Given the description of an element on the screen output the (x, y) to click on. 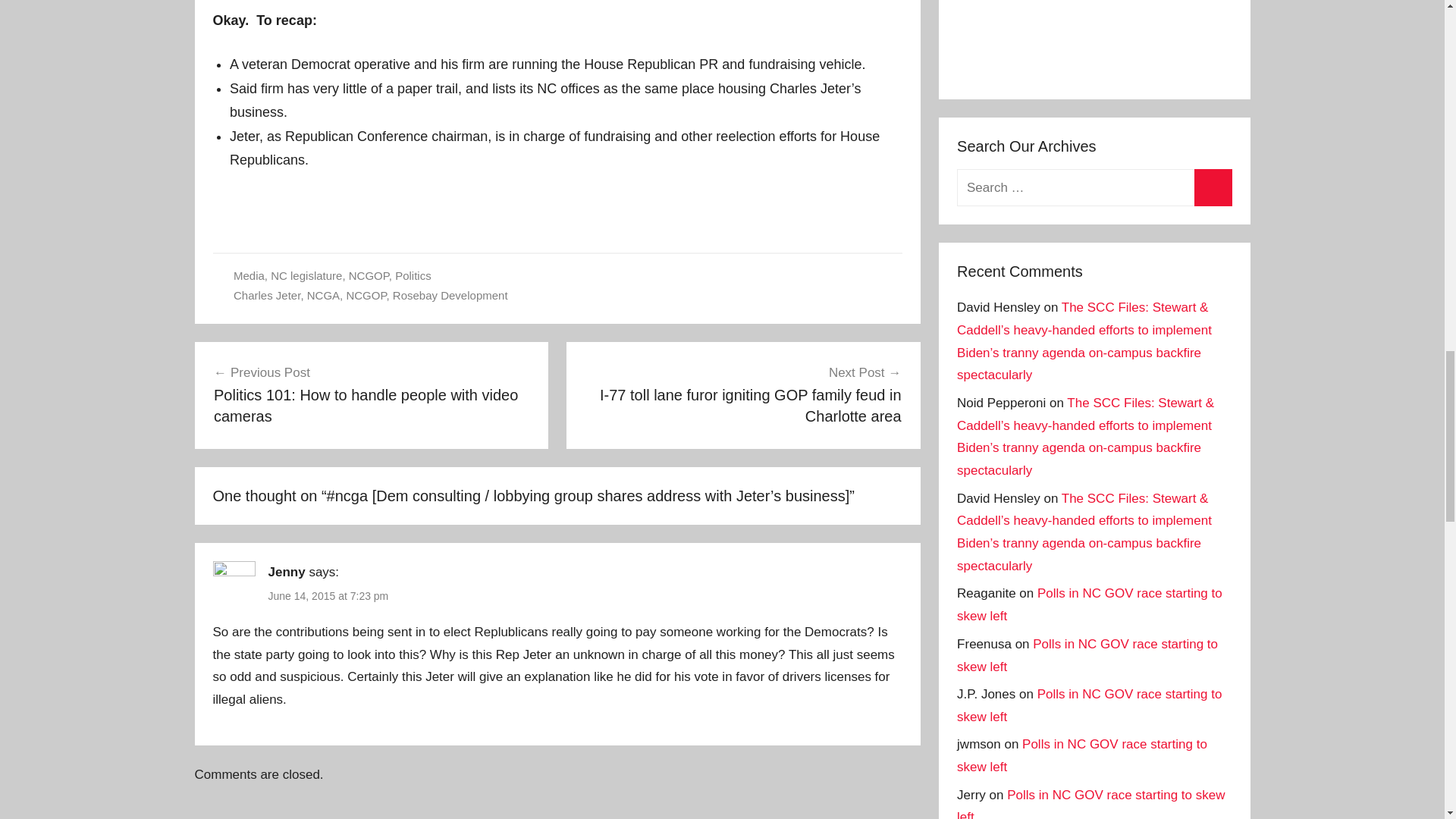
NCGOP (365, 295)
June 14, 2015 at 7:23 pm (327, 595)
NC legislature (306, 275)
Charles Jeter (265, 295)
NCGA (323, 295)
Media (248, 275)
Rosebay Development (450, 295)
Search for: (1093, 187)
